Given the description of an element on the screen output the (x, y) to click on. 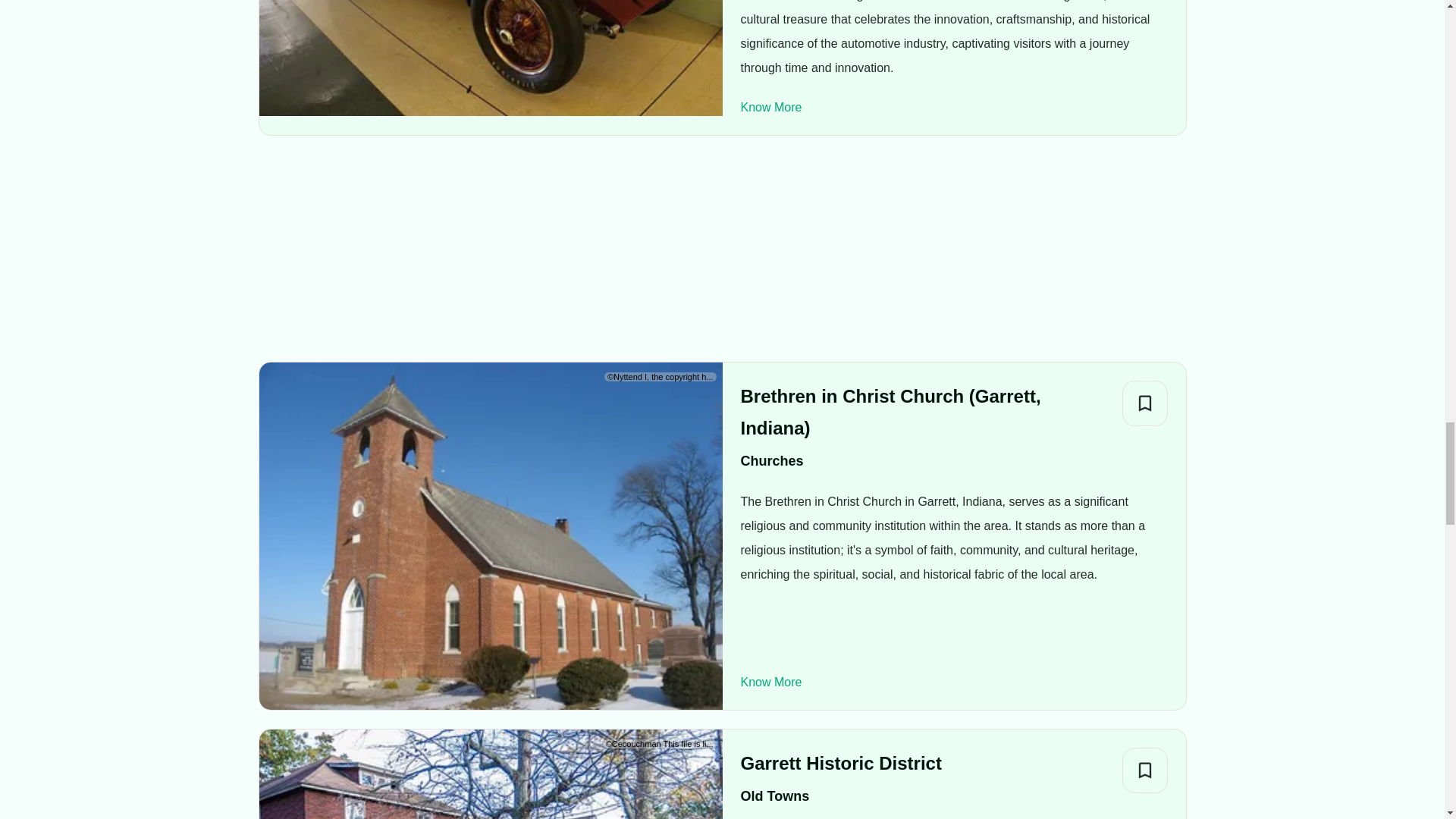
Add to Bucket List (1144, 402)
Add to Bucket List (1144, 770)
